Given the description of an element on the screen output the (x, y) to click on. 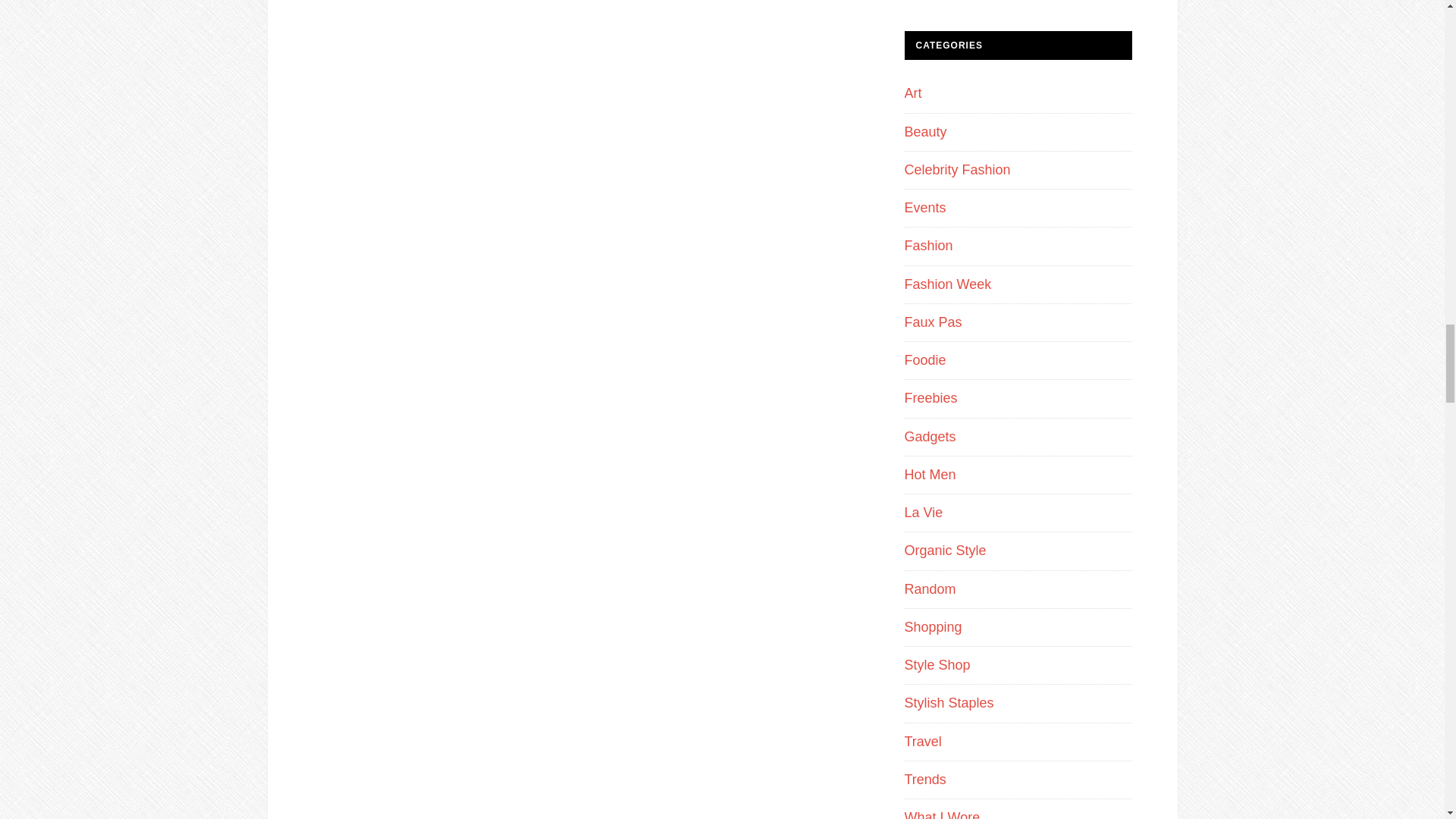
Art (912, 92)
Celebrity Fashion (957, 169)
Beauty (925, 131)
